Given the description of an element on the screen output the (x, y) to click on. 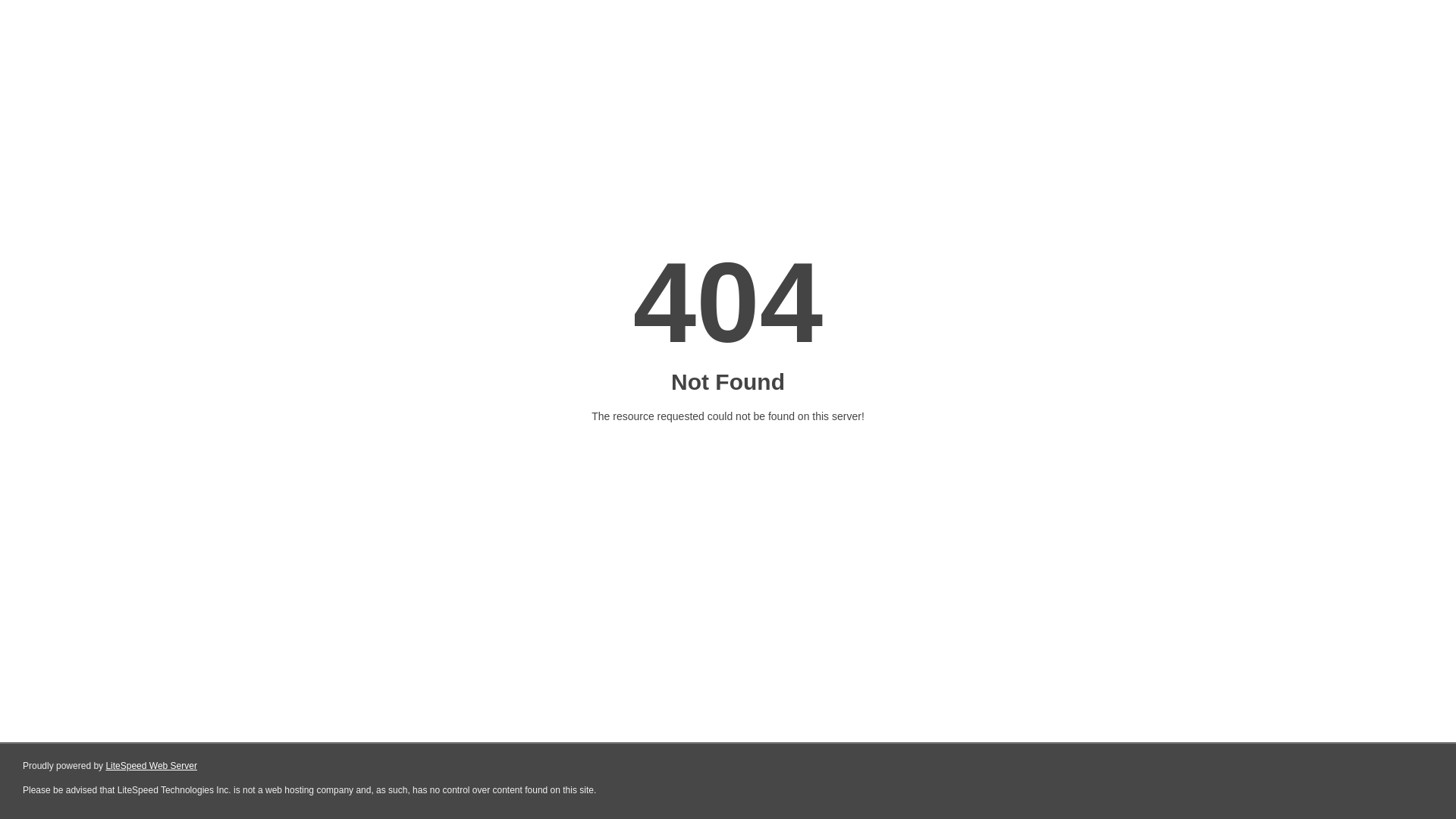
LiteSpeed Web Server Element type: text (151, 765)
